Given the description of an element on the screen output the (x, y) to click on. 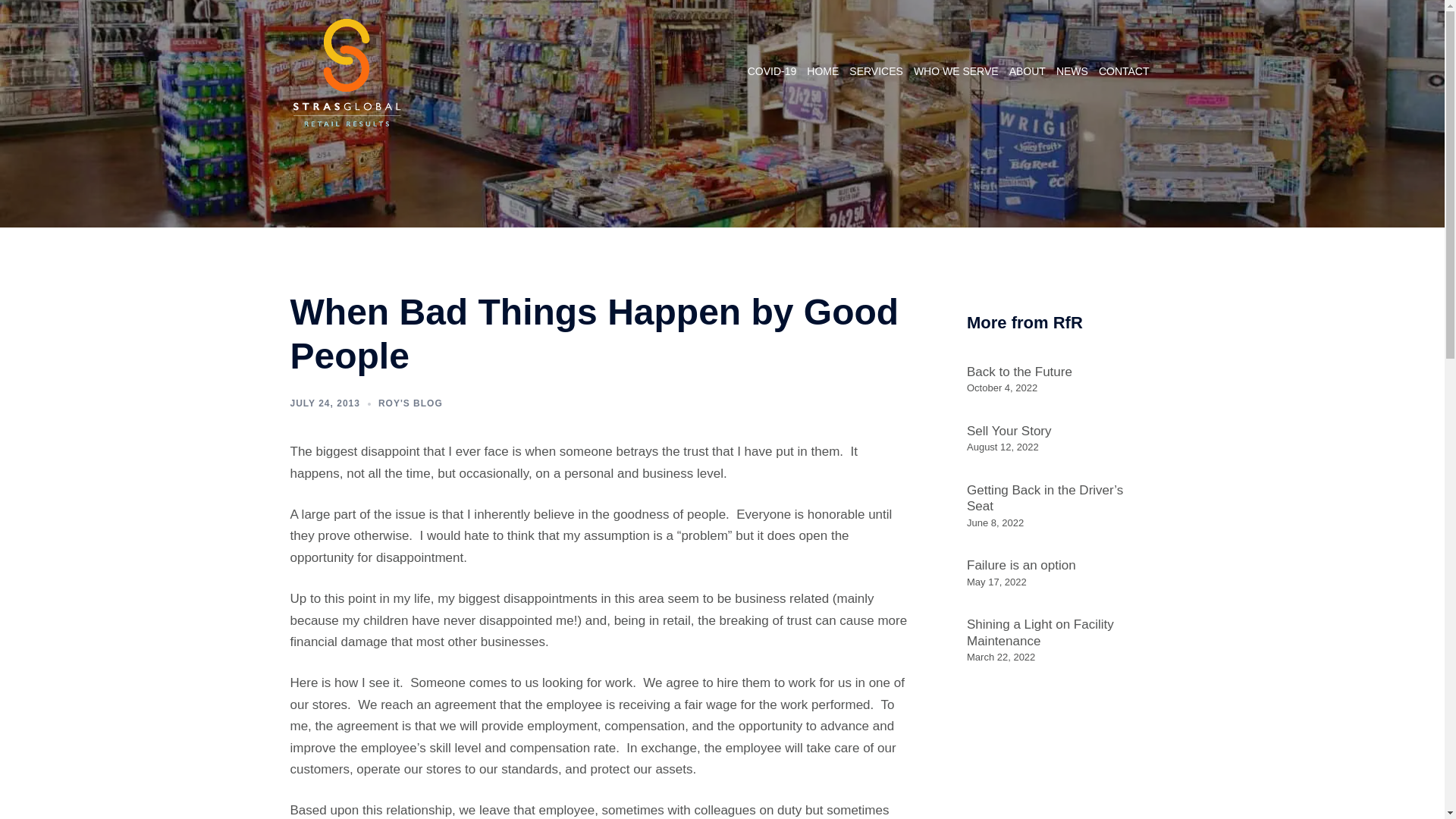
Back to the Future (1018, 371)
ROY'S BLOG (410, 403)
NEWS (1072, 72)
SERVICES (875, 72)
ABOUT (1027, 72)
Failure is an option (1020, 564)
Sell Your Story (1008, 431)
JULY 24, 2013 (324, 403)
StrasGlobal (346, 70)
Shining a Light on Facility Maintenance (1039, 632)
